Given the description of an element on the screen output the (x, y) to click on. 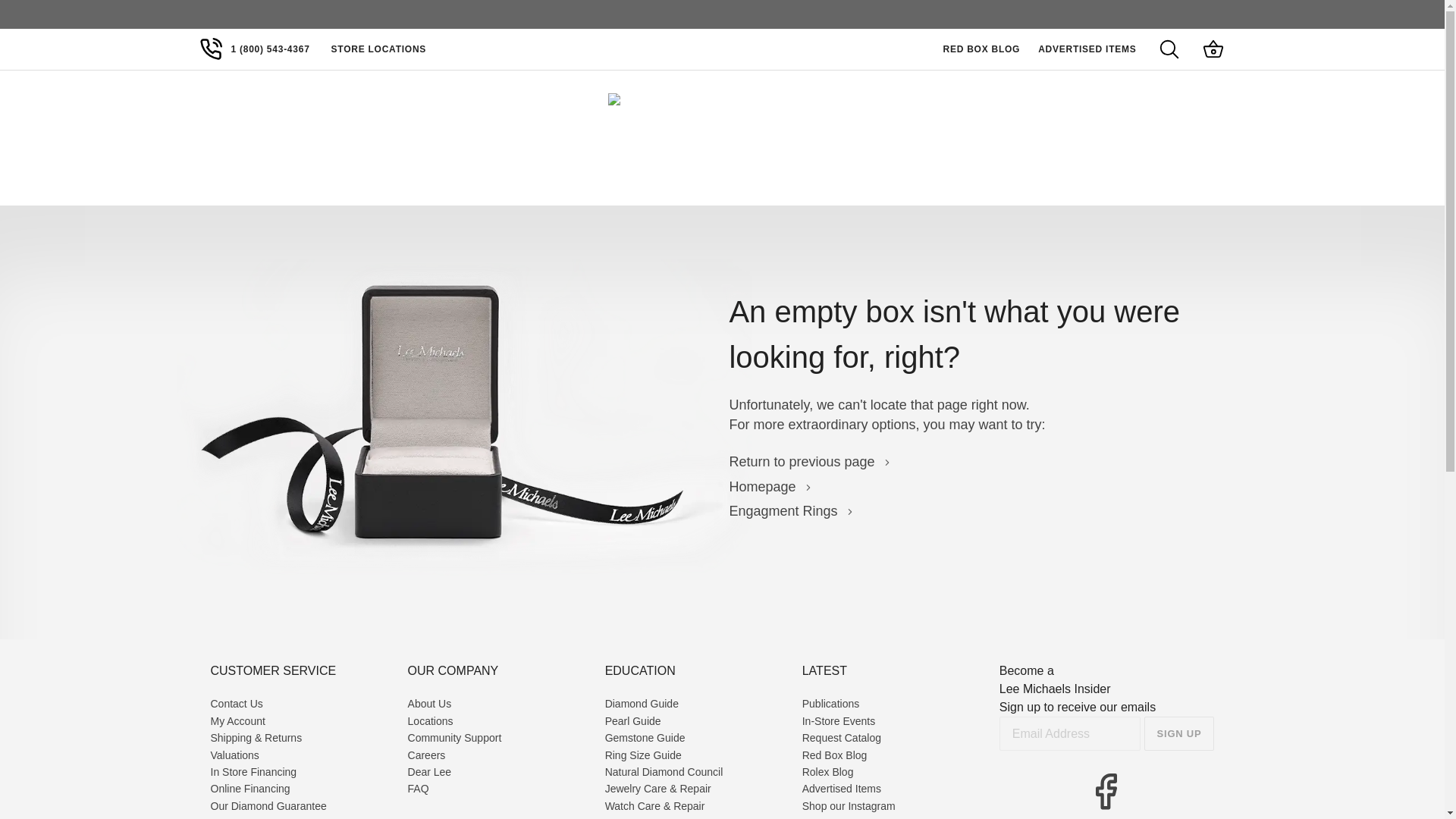
Homepage (770, 486)
Publications (831, 703)
Ring Size Guide (643, 754)
About Us (429, 703)
Careers (426, 754)
Locations (429, 720)
Contact Us (237, 703)
Natural Diamond Council (664, 771)
RED BOX BLOG (985, 49)
Gemstone Guide (645, 737)
